Given the description of an element on the screen output the (x, y) to click on. 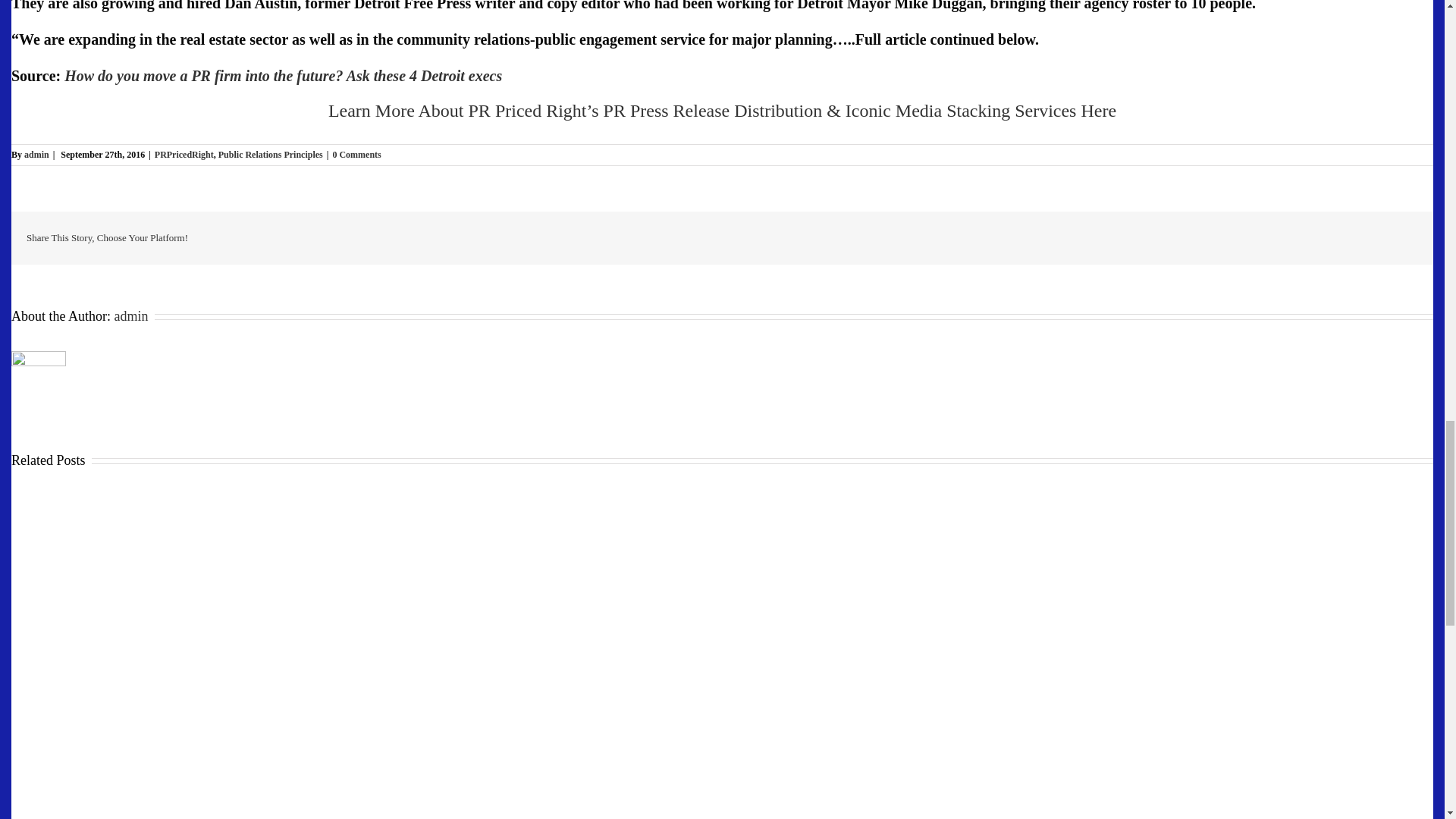
admin (130, 315)
admin (36, 154)
0 Comments (355, 154)
Public Relations Principles (270, 154)
PRPricedRight (184, 154)
Posts by admin (36, 154)
Posts by admin (130, 315)
